Given the description of an element on the screen output the (x, y) to click on. 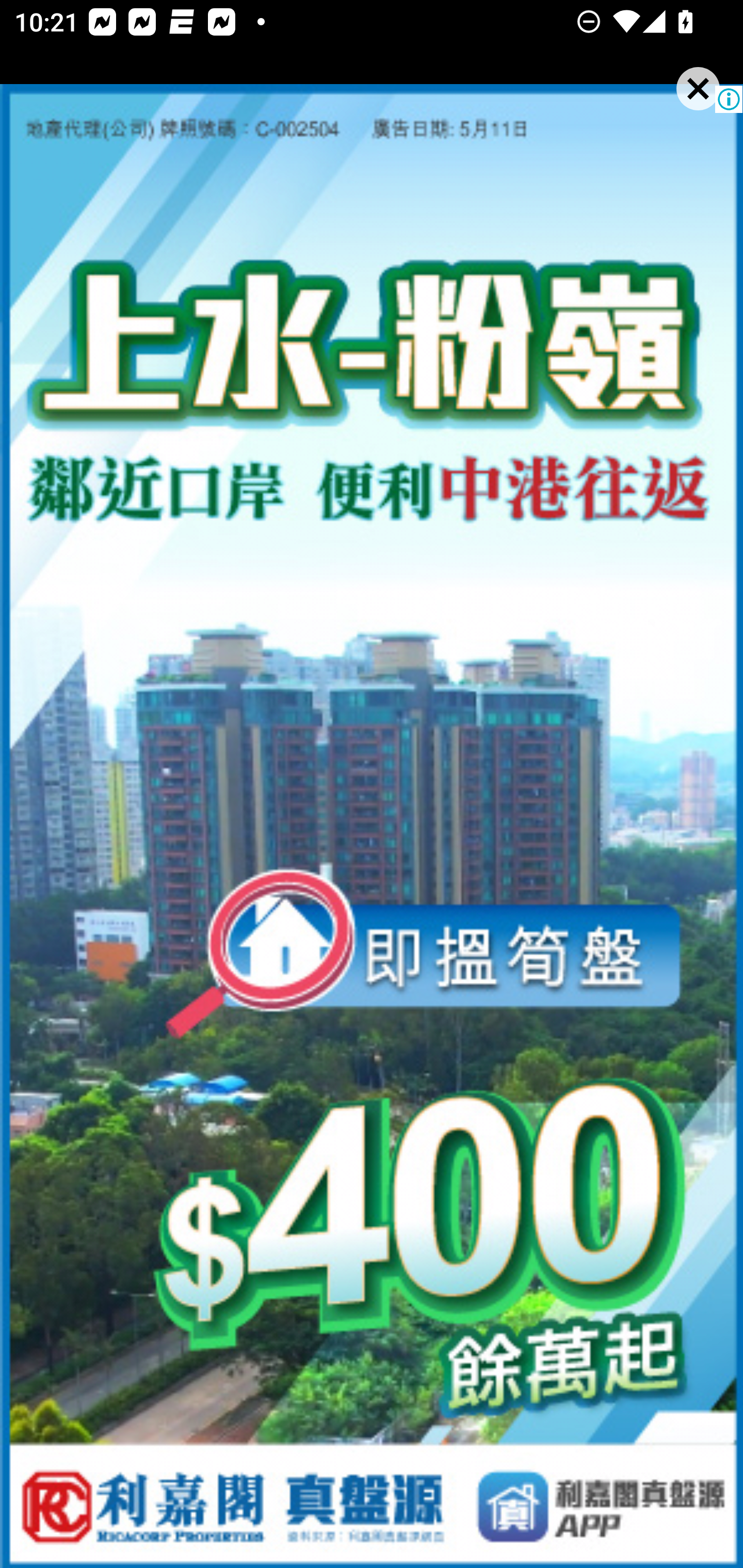
Interstitial close button (679, 106)
